Given the description of an element on the screen output the (x, y) to click on. 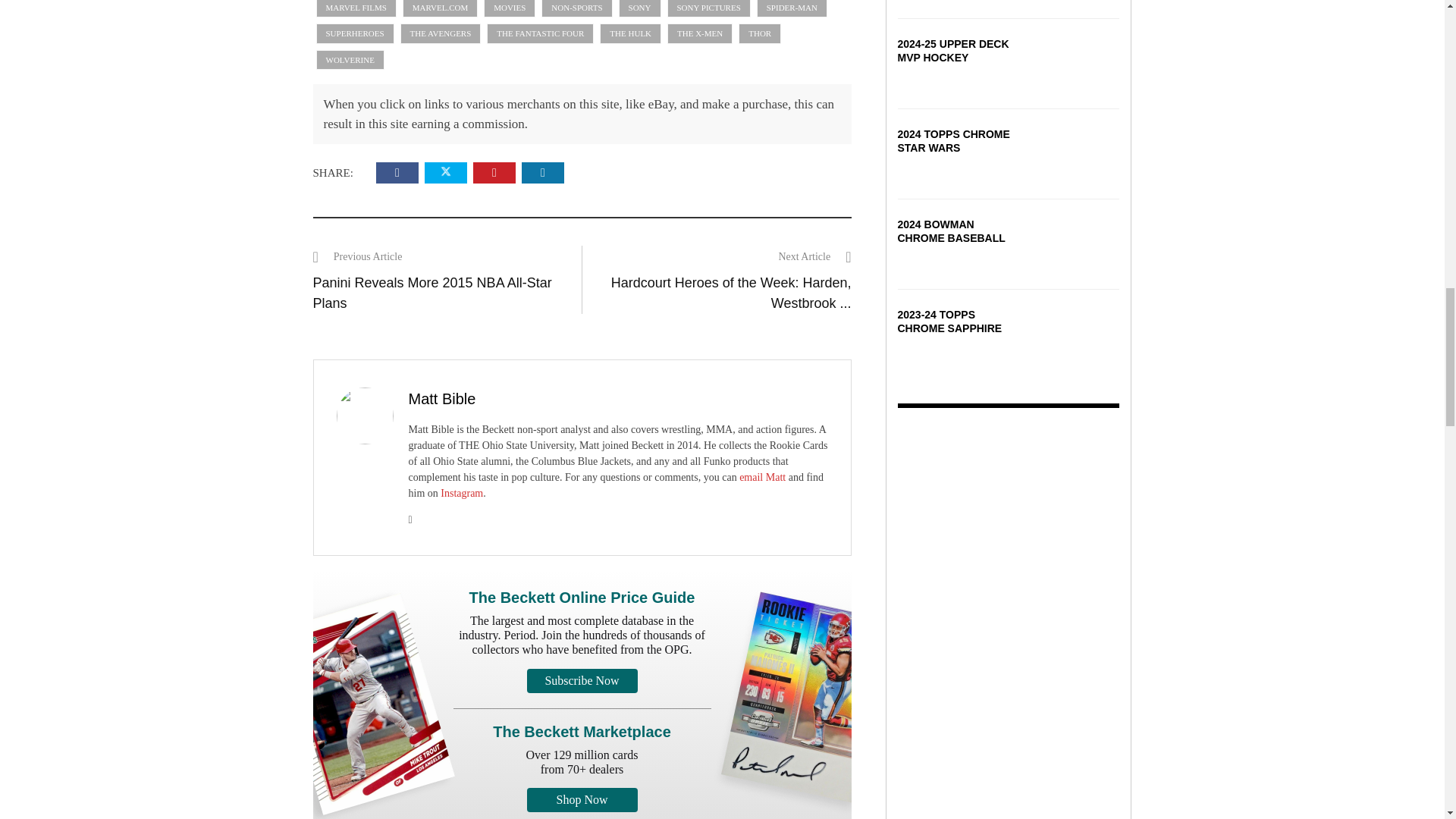
View all posts tagged Marvel Films (355, 9)
View all posts tagged Non-Sports (576, 9)
View all posts tagged movies (509, 9)
View all posts tagged Marvel.com (440, 9)
View all posts tagged Sony (639, 9)
